Given the description of an element on the screen output the (x, y) to click on. 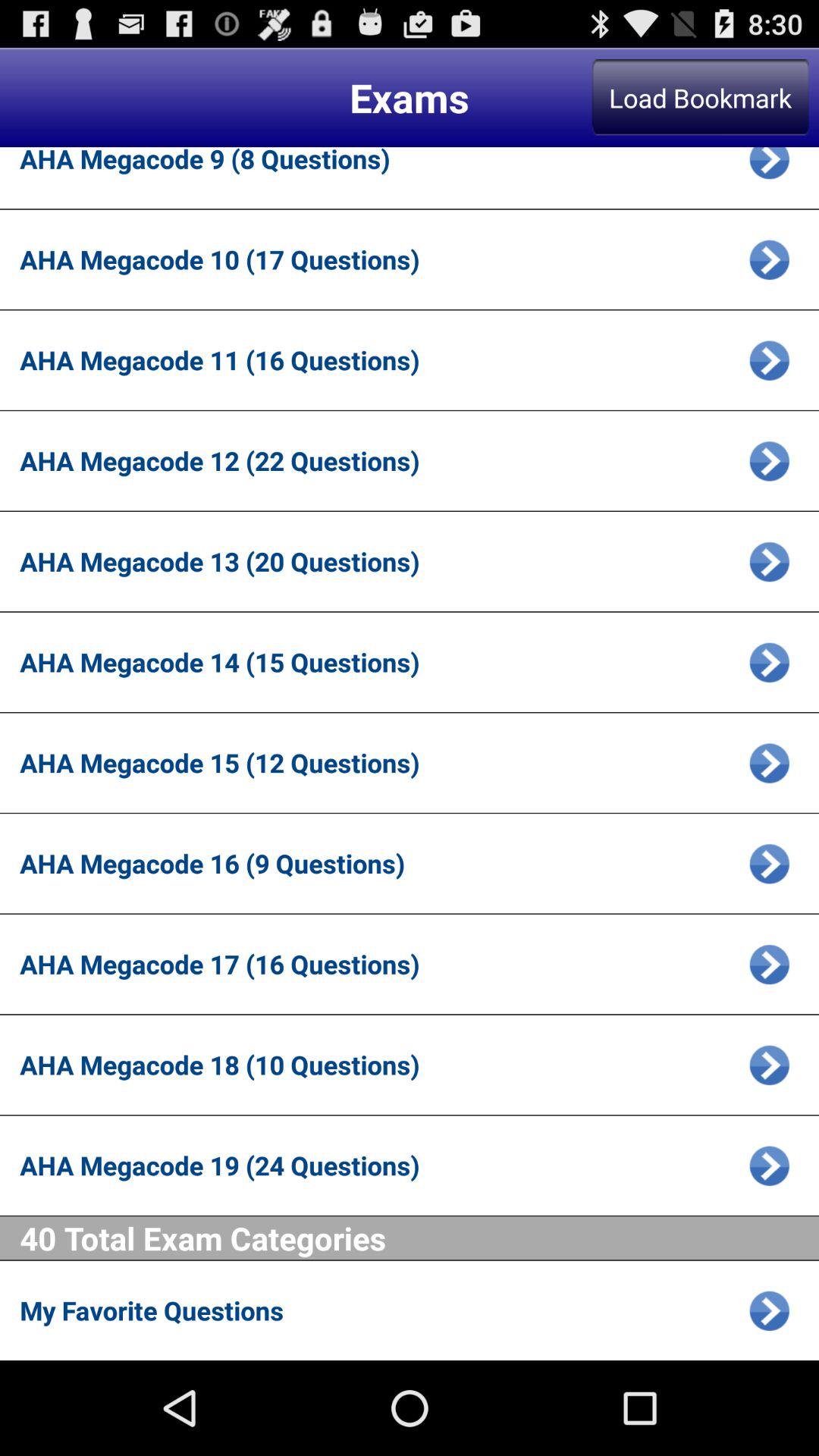
open this book mark (769, 1064)
